Given the description of an element on the screen output the (x, y) to click on. 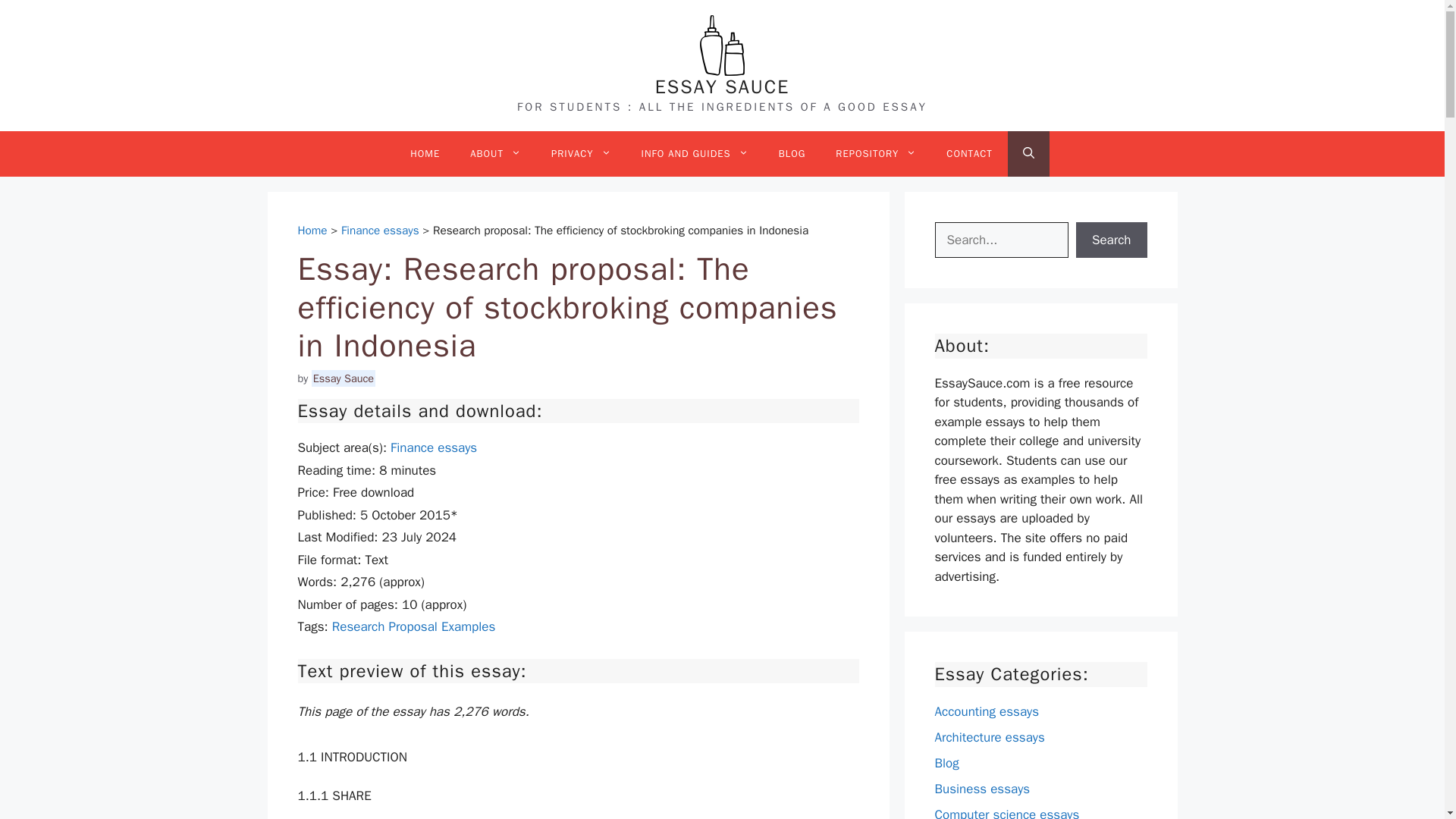
REPOSITORY (876, 153)
Search (1111, 239)
View all posts by Essay Sauce (343, 377)
Blog (946, 763)
PRIVACY (580, 153)
ABOUT (494, 153)
Finance essays (433, 447)
Finance essays (379, 230)
Computer science essays (1006, 812)
Accounting essays (986, 711)
